Given the description of an element on the screen output the (x, y) to click on. 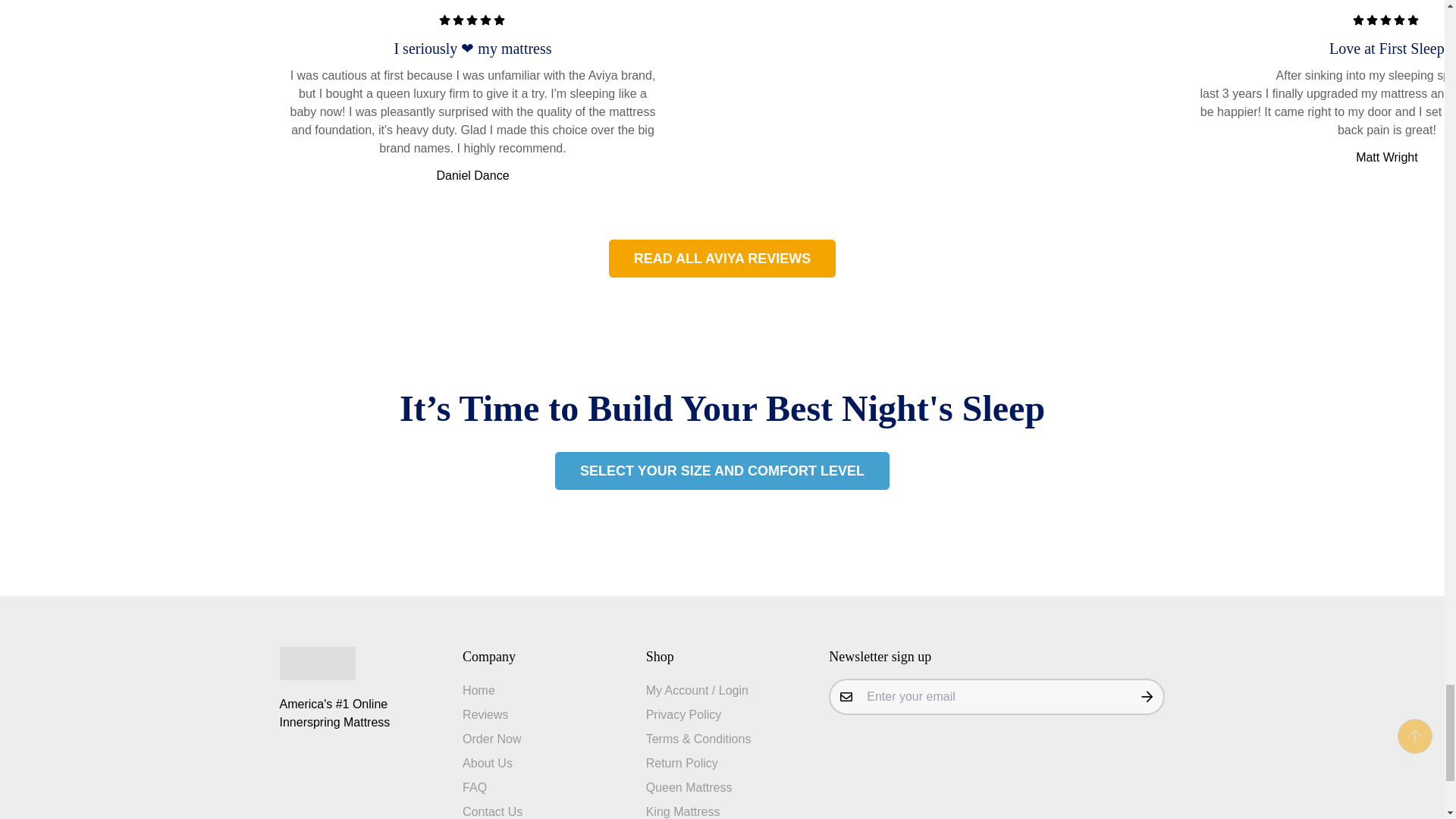
READ ALL AVIYA REVIEWS (721, 258)
